Given the description of an element on the screen output the (x, y) to click on. 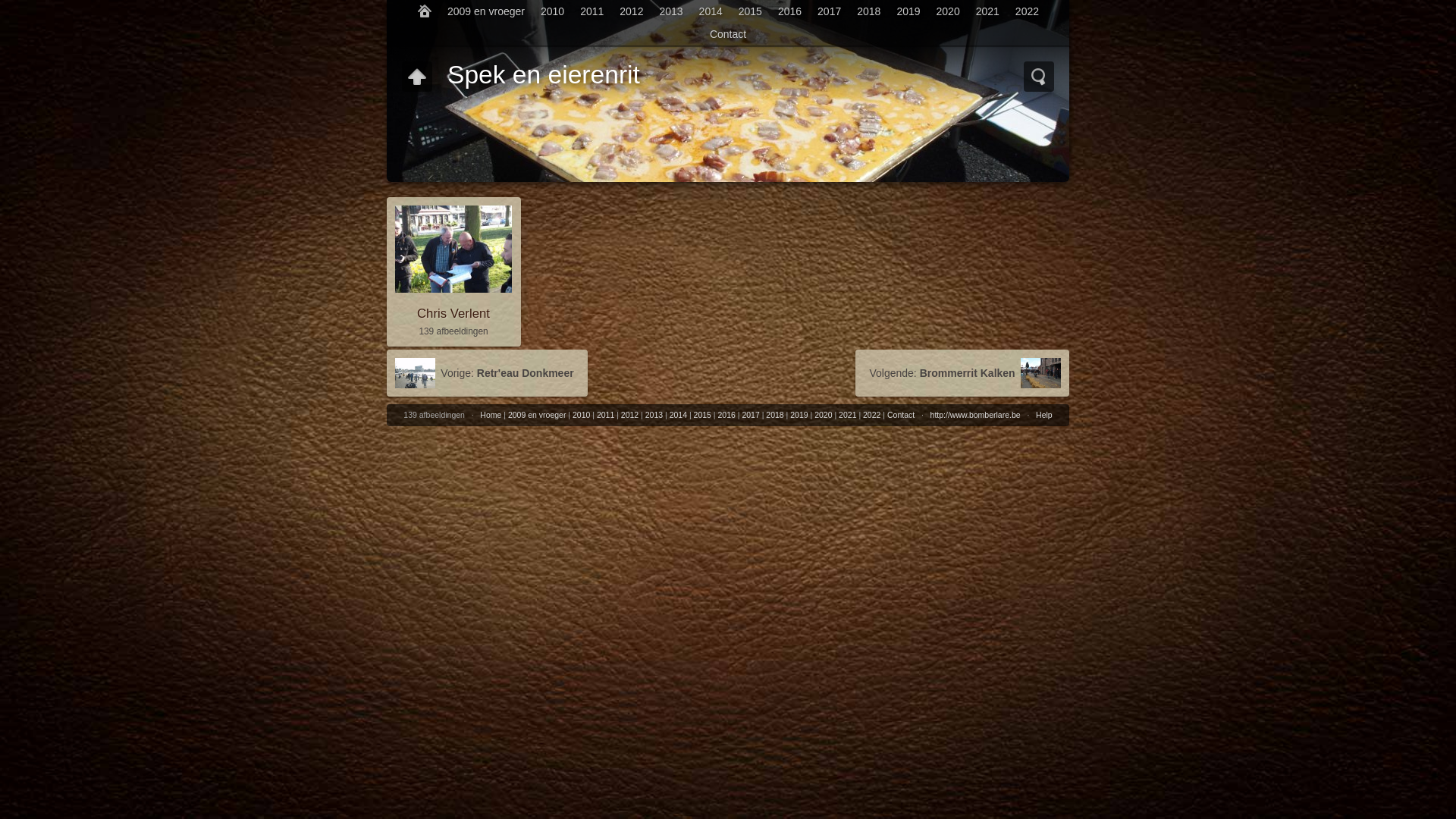
Contact Element type: text (900, 414)
2010 Element type: text (580, 414)
2009 en vroeger Element type: text (536, 414)
2010 Element type: text (551, 11)
  Element type: text (416, 76)
Home Element type: hover (424, 11)
Chris Verlent Element type: text (453, 313)
2021 Element type: text (987, 11)
  Element type: text (1038, 76)
2022 Element type: text (1026, 11)
2016 Element type: text (725, 414)
2015 Element type: text (749, 11)
Home Element type: text (490, 414)
2011 Element type: text (605, 414)
2015 Element type: text (702, 414)
2014 Element type: text (678, 414)
2013 Element type: text (653, 414)
2011 Element type: text (591, 11)
Volgende: Brommerrit Kalken Element type: text (962, 372)
2020 Element type: text (947, 11)
2012 Element type: text (629, 414)
http://www.bomberlare.be Element type: text (975, 414)
2018 Element type: text (868, 11)
Contact Element type: text (727, 33)
2020 Element type: text (822, 414)
  Element type: text (424, 11)
2012 Element type: text (631, 11)
2021 Element type: text (847, 414)
2014 Element type: text (710, 11)
2019 Element type: text (798, 414)
Vorige: Retr'eau Donkmeer Element type: text (486, 372)
2017 Element type: text (750, 414)
2013 Element type: text (670, 11)
2019 Element type: text (908, 11)
2018 Element type: text (774, 414)
2016 Element type: text (789, 11)
Help Element type: text (1043, 414)
2022 Element type: text (871, 414)
2017 Element type: text (829, 11)
2009 en vroeger Element type: text (486, 11)
